Given the description of an element on the screen output the (x, y) to click on. 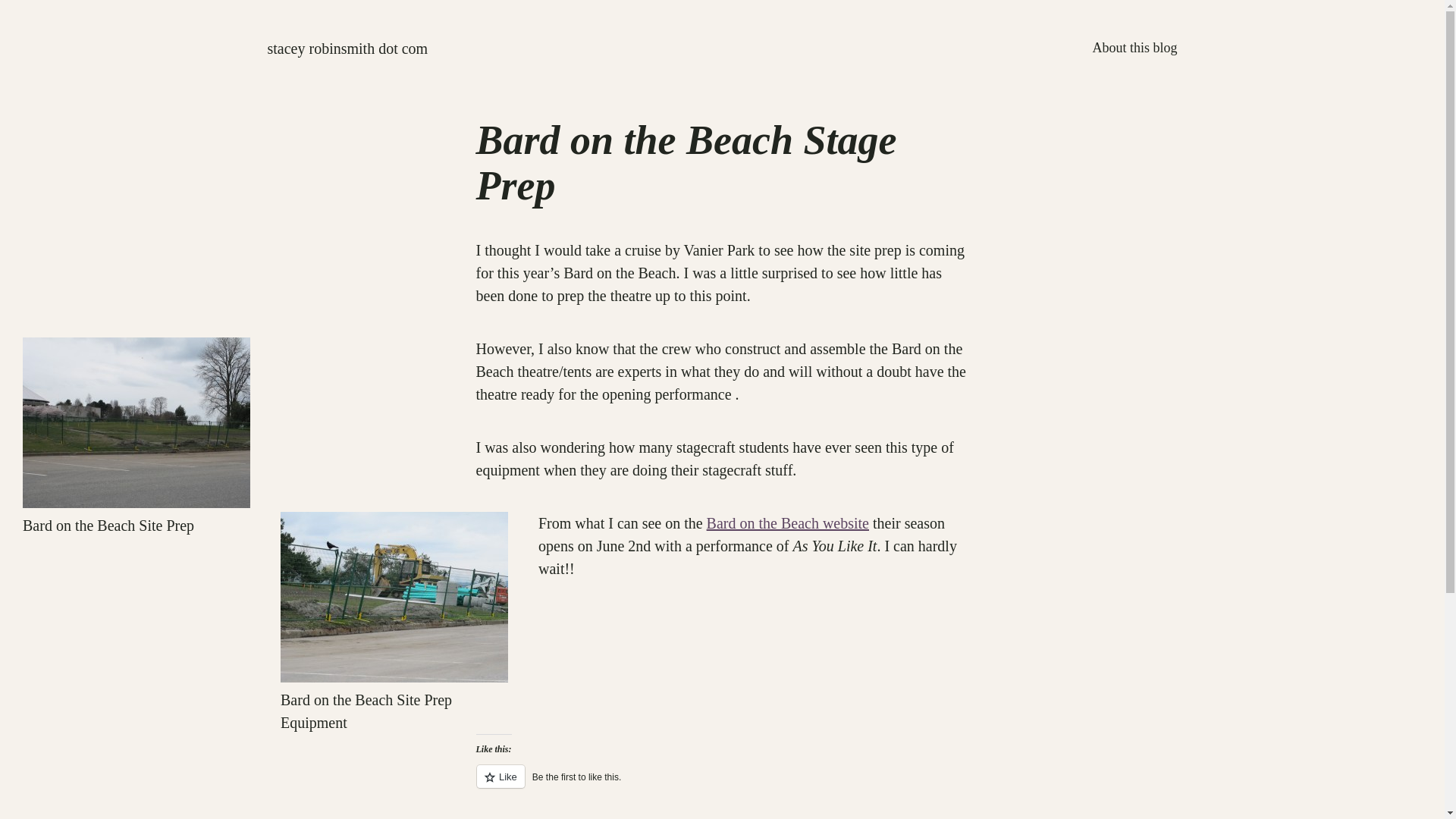
Bard on the Beach Site Prep Equipment (394, 596)
stacey robinsmith dot com (347, 48)
Bard on the Beach (787, 523)
Bard on the Beach website (787, 523)
Bard on the Beach Site Prep (136, 422)
Like or Reblog (722, 784)
About this blog (1134, 47)
